Given the description of an element on the screen output the (x, y) to click on. 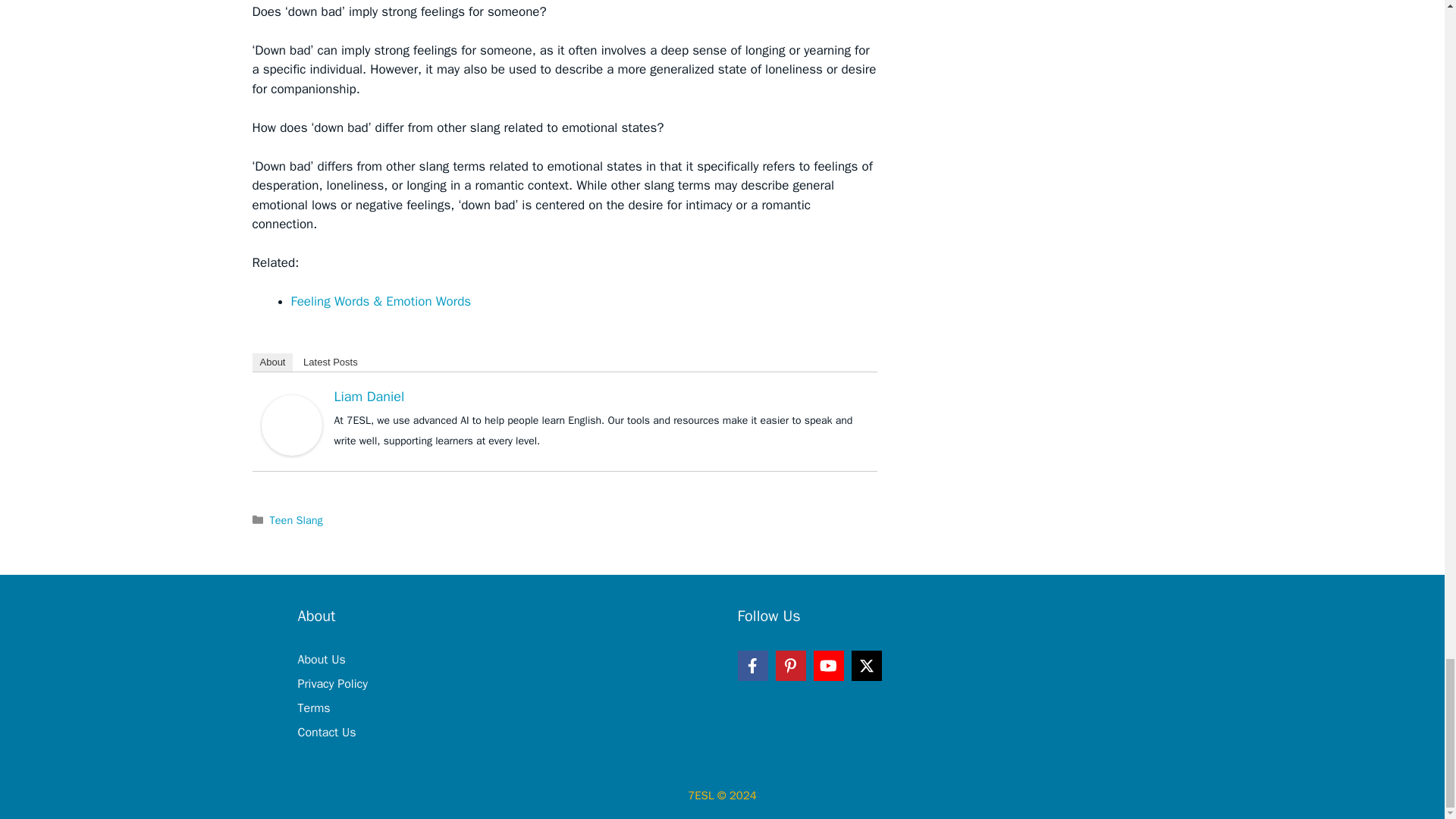
About (271, 361)
Liam Daniel (290, 424)
Latest Posts (330, 361)
Teen Slang (296, 520)
Liam Daniel (368, 396)
